Given the description of an element on the screen output the (x, y) to click on. 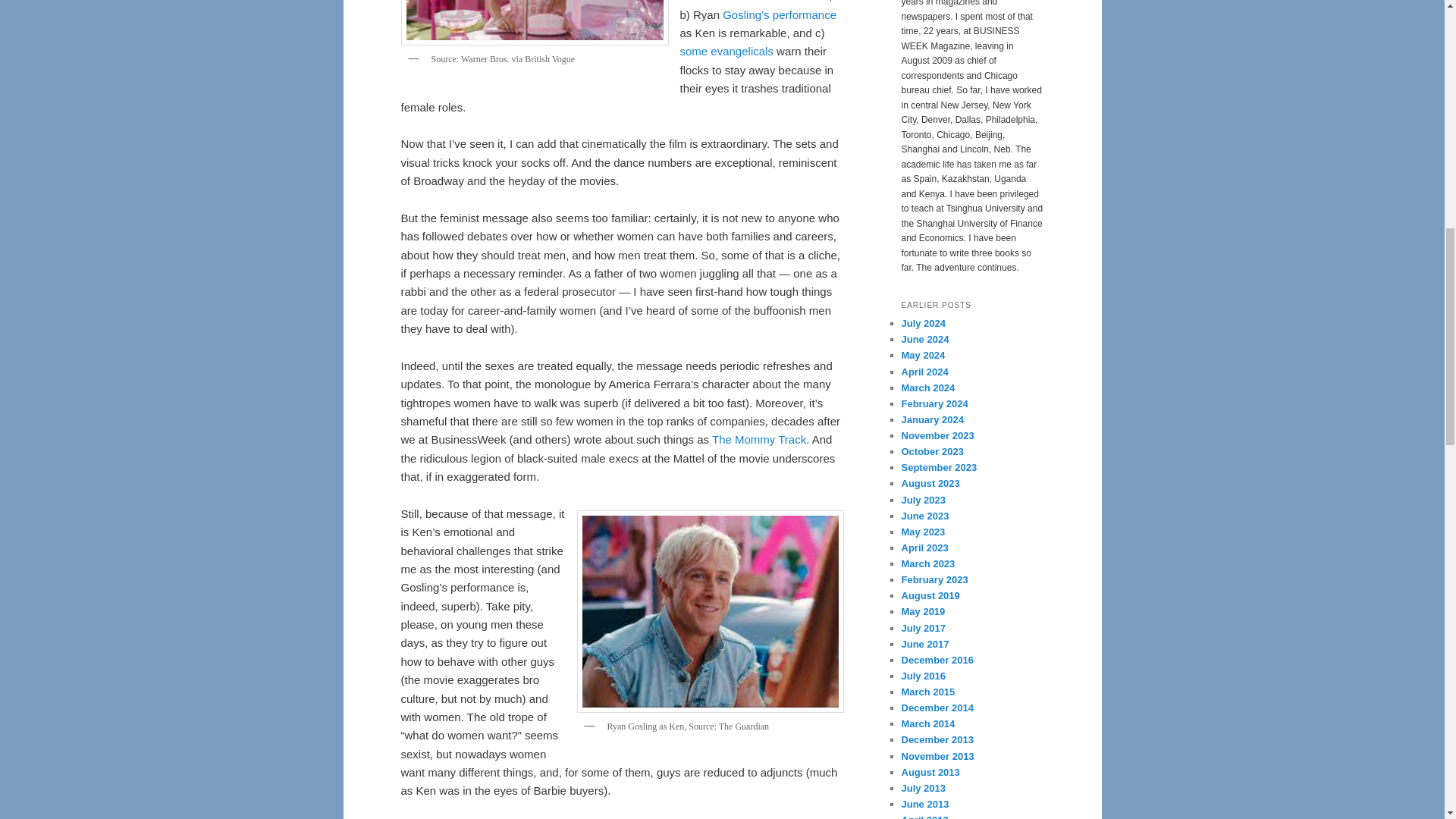
The Mommy Track (758, 439)
September 2023 (938, 467)
February 2024 (934, 403)
November 2023 (937, 435)
April 2024 (924, 370)
October 2023 (931, 451)
some evangelicals (726, 51)
January 2024 (931, 419)
May 2024 (922, 355)
August 2023 (930, 482)
March 2024 (928, 387)
July 2024 (922, 323)
June 2024 (925, 338)
